Given the description of an element on the screen output the (x, y) to click on. 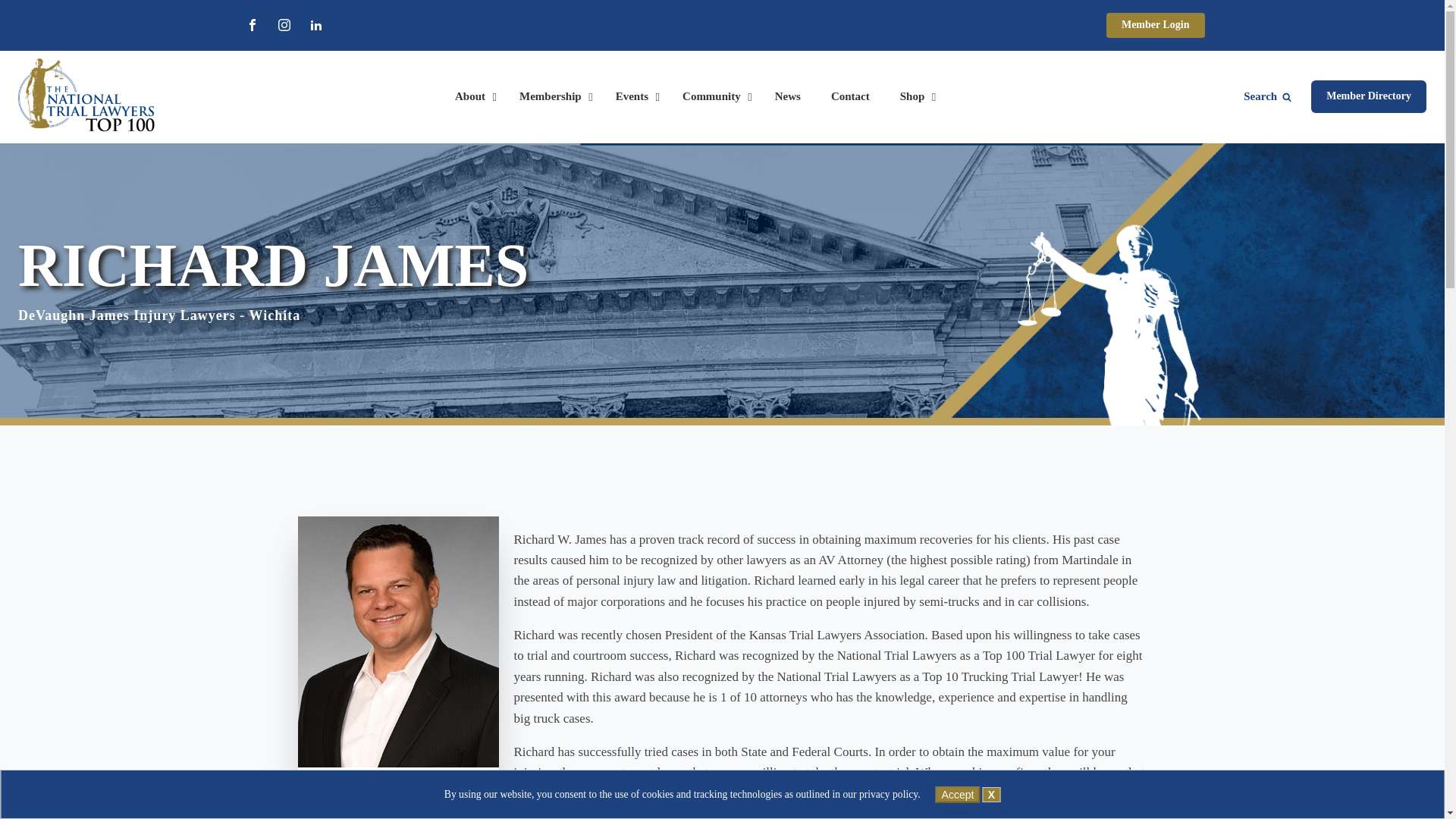
X (991, 783)
Membership (551, 96)
Member Login (1155, 25)
About (471, 96)
Accept (957, 782)
